Given the description of an element on the screen output the (x, y) to click on. 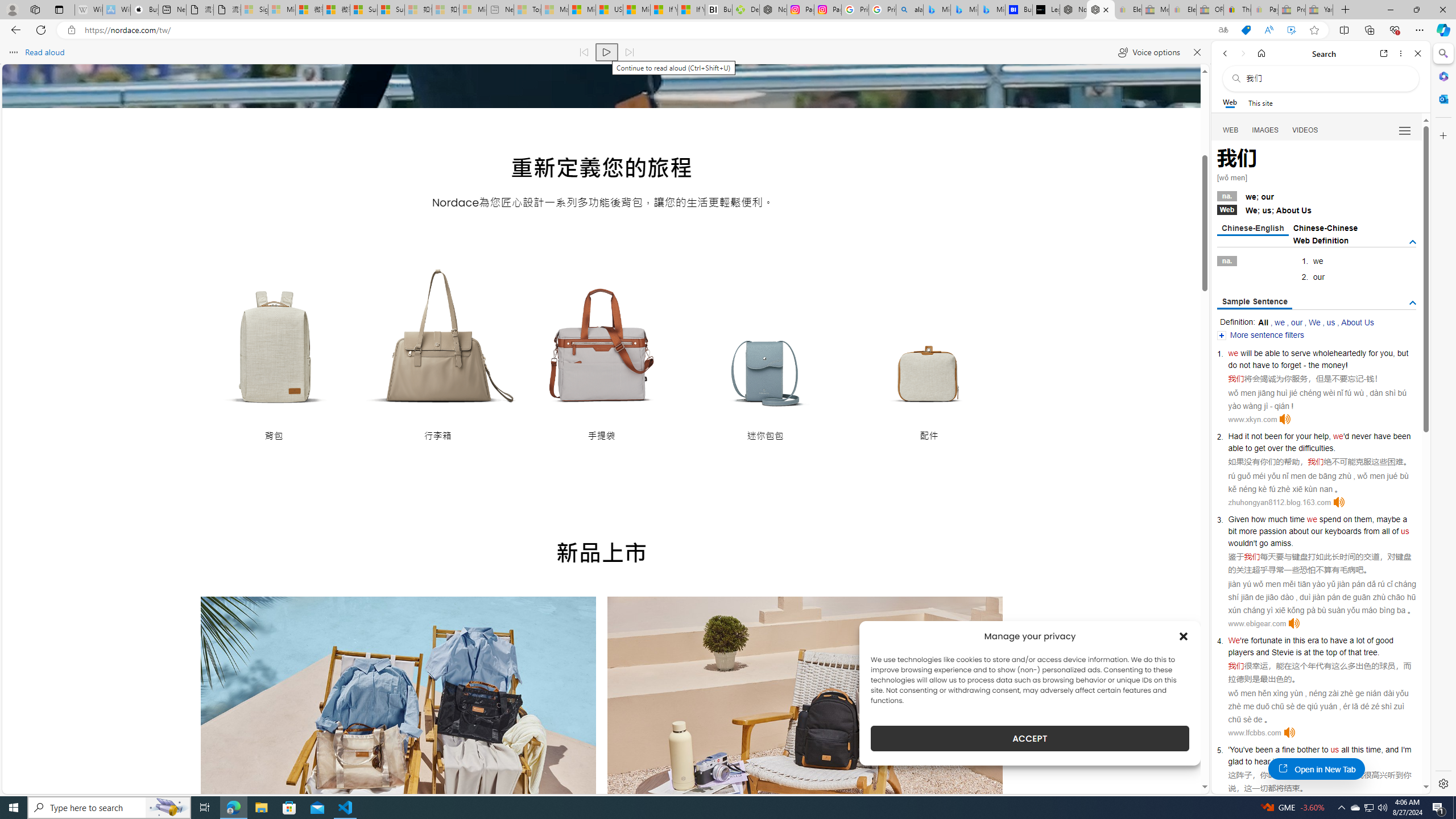
top (1331, 651)
Sign in to your Microsoft account - Sleeping (254, 9)
about (1298, 530)
and (1262, 651)
this (1357, 749)
